Given the description of an element on the screen output the (x, y) to click on. 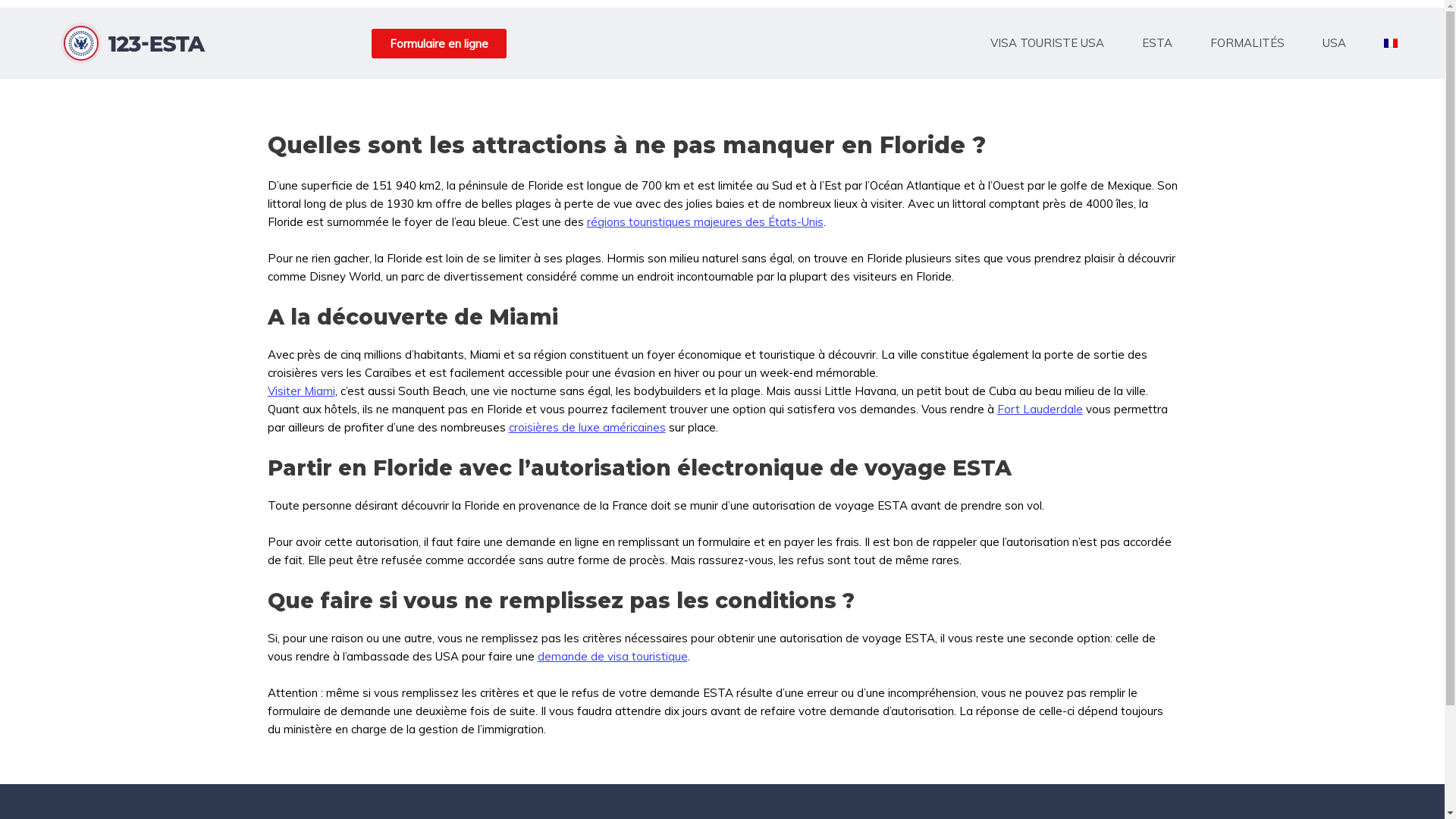
ESTA Element type: text (1160, 42)
Fort Lauderdale Element type: text (1039, 408)
USA Element type: text (1337, 42)
Visiter Miami Element type: text (300, 390)
VISA TOURISTE USA Element type: text (1050, 42)
demande de visa touristique Element type: text (611, 656)
Formulaire en ligne Element type: text (438, 43)
